Given the description of an element on the screen output the (x, y) to click on. 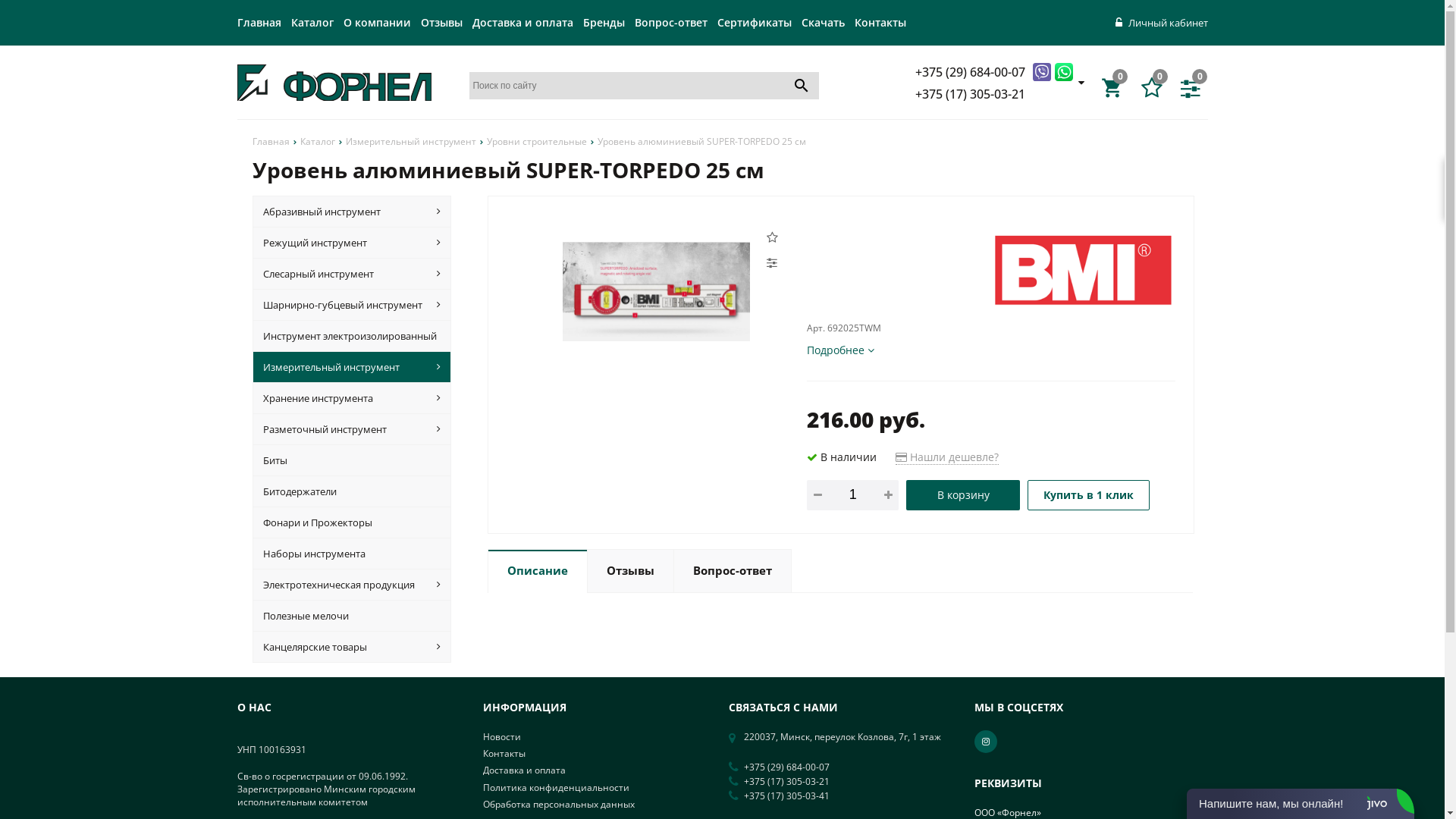
+375 (29) 684-00-07 Element type: text (972, 71)
+375 (29) 684-00-07 Element type: text (786, 767)
+375 (17) 305-03-21 Element type: text (786, 781)
+375 (17) 305-03-21 Element type: text (972, 93)
local_grocery_store
0 Element type: text (1114, 87)
search Element type: text (801, 84)
+375 (17) 305-03-41 Element type: text (786, 796)
